Given the description of an element on the screen output the (x, y) to click on. 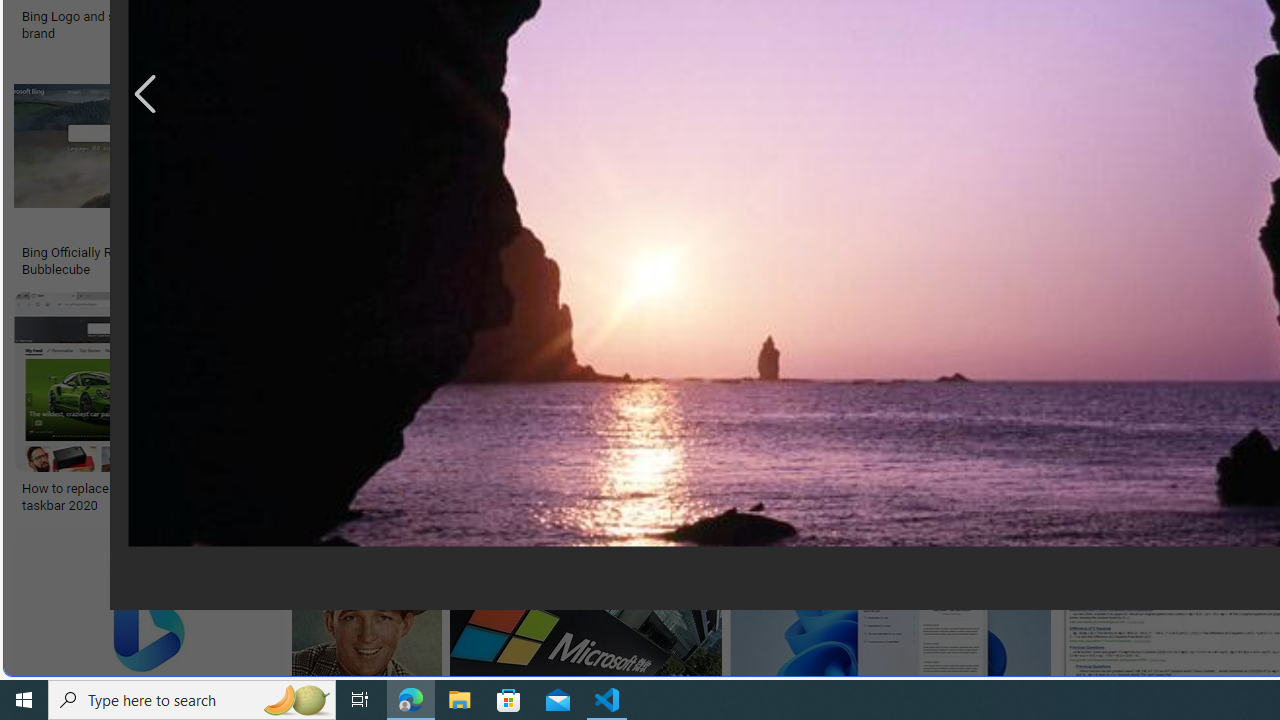
Bing Logo and symbol, meaning, history, PNG, brand (170, 24)
How to replace Bing in Windows 10 search on the taskbar 2020 (164, 497)
Bing - SEOLend (489, 253)
